Given the description of an element on the screen output the (x, y) to click on. 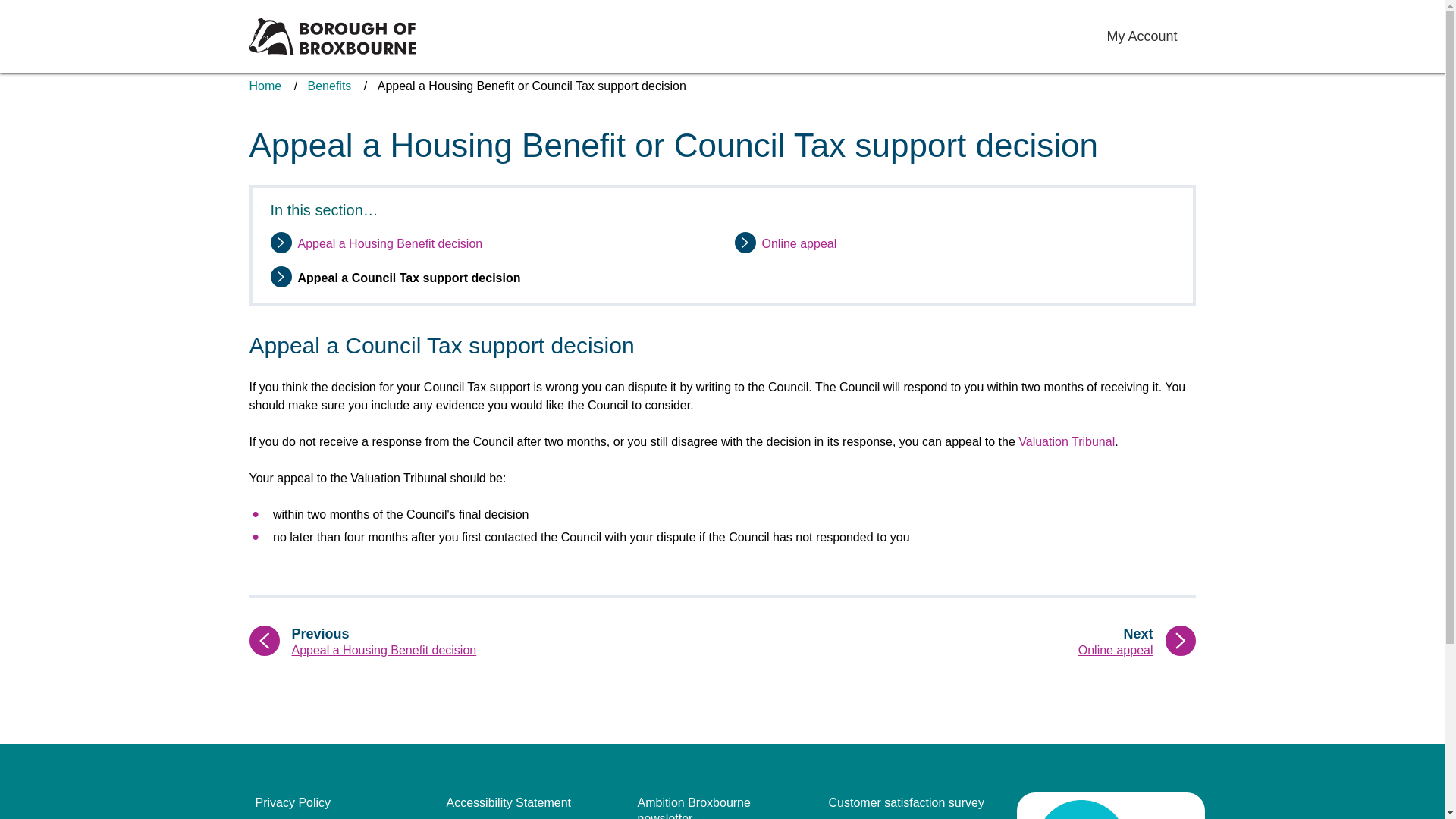
Ambition Broxbourne newsletter (720, 807)
My Account (1141, 36)
Accessibility Statement (507, 803)
Borough of Broxbourne Council Home Page (331, 36)
Online appeal (976, 642)
Customer satisfaction survey (798, 243)
Privacy Policy (906, 803)
Jobs and Careers (292, 803)
Home (493, 818)
Sign up for email alerts (264, 86)
Appeal a Housing Benefit decision (890, 818)
Borough of Broxbourne Council (389, 243)
Benefits (331, 36)
